Given the description of an element on the screen output the (x, y) to click on. 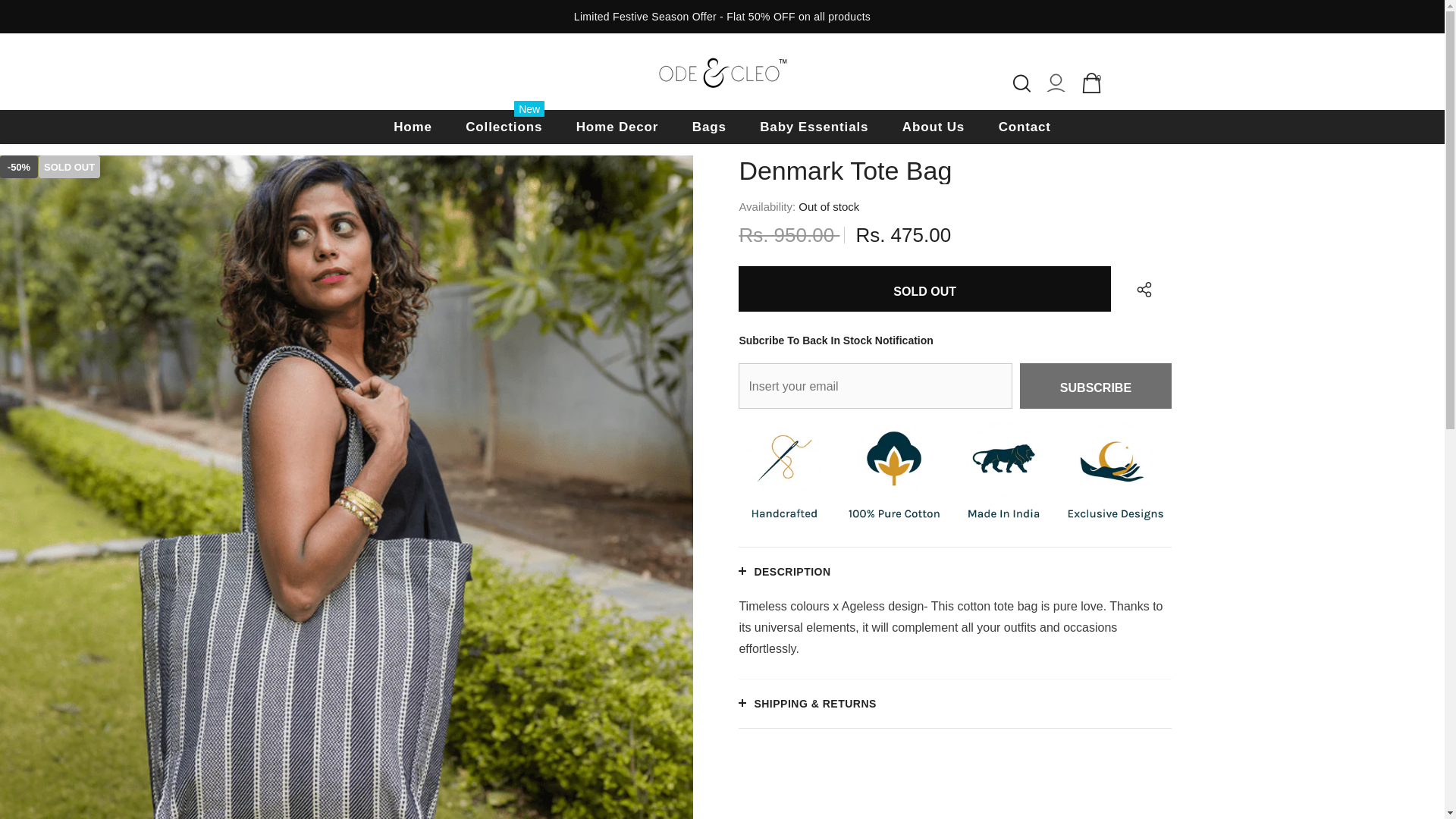
Search Icon (1021, 83)
Home Decor (617, 126)
Subscribe (1096, 384)
Logo (722, 71)
Bags (709, 126)
Contact (1024, 126)
0 (1091, 82)
Cart (1091, 82)
Home (412, 126)
Sold Out (924, 289)
